Given the description of an element on the screen output the (x, y) to click on. 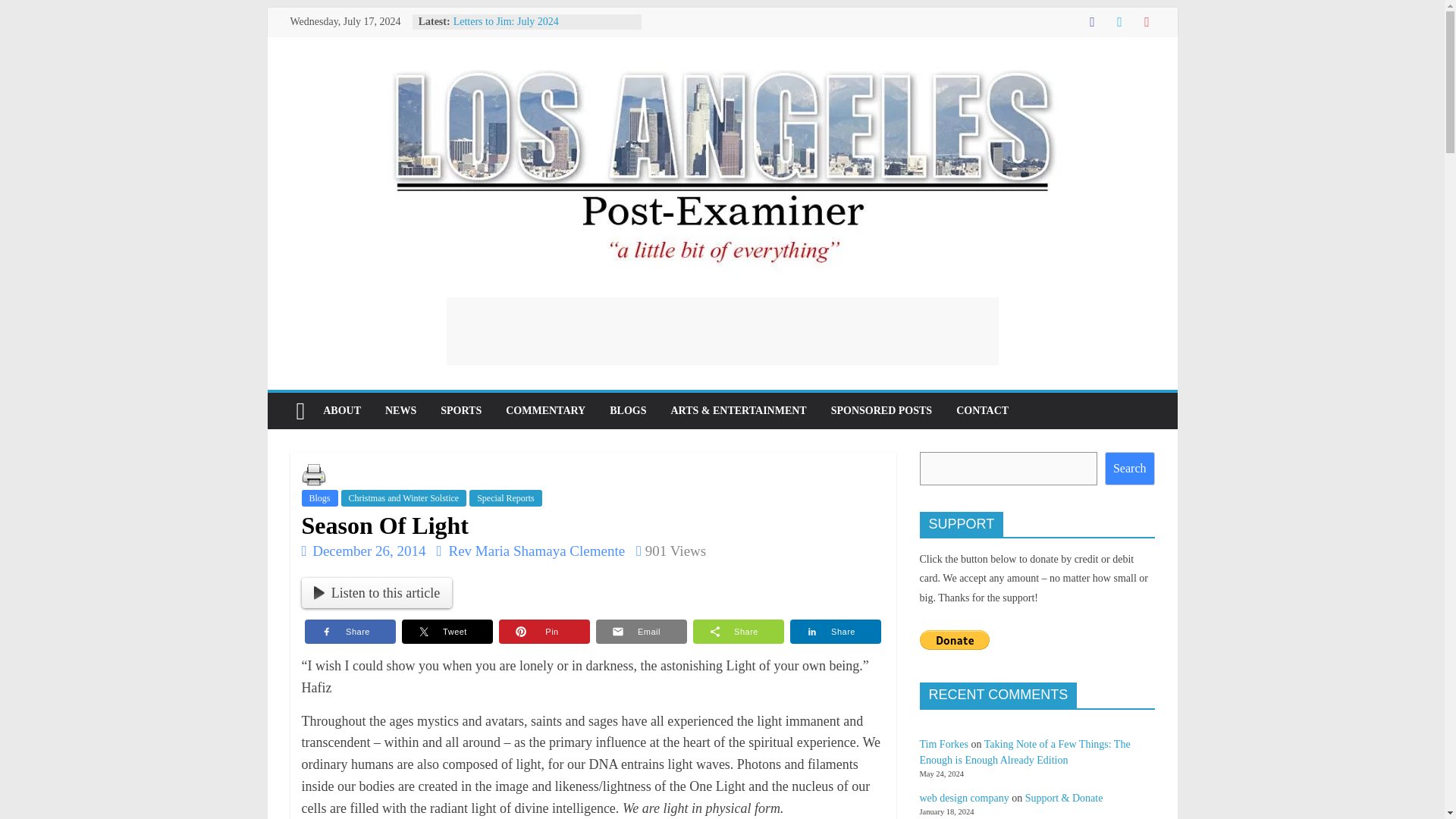
SPORTS (460, 411)
Blogs (319, 497)
ABOUT (341, 411)
Letters to Jim: July 2024 (505, 21)
Special Reports (504, 497)
Rev Maria Shamaya Clemente (537, 550)
12:44 am (363, 550)
Advertisement (721, 331)
CONTACT (981, 411)
NEWS (400, 411)
Letters to Jim: July 2024 (505, 21)
BLOGS (627, 411)
December 26, 2014 (363, 550)
Rev Maria Shamaya Clemente (537, 550)
